Given the description of an element on the screen output the (x, y) to click on. 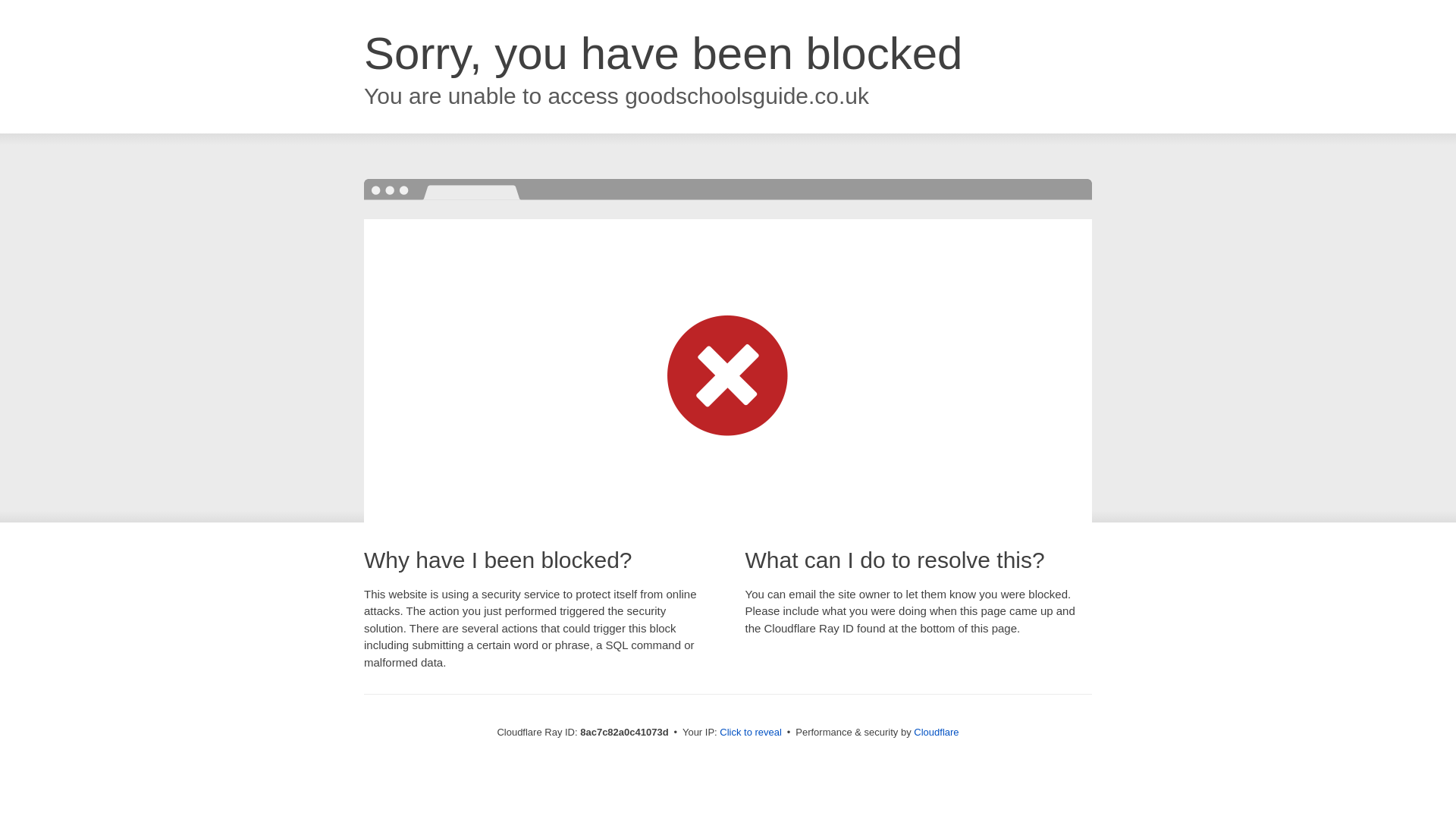
Click to reveal (750, 732)
Cloudflare (936, 731)
